Given the description of an element on the screen output the (x, y) to click on. 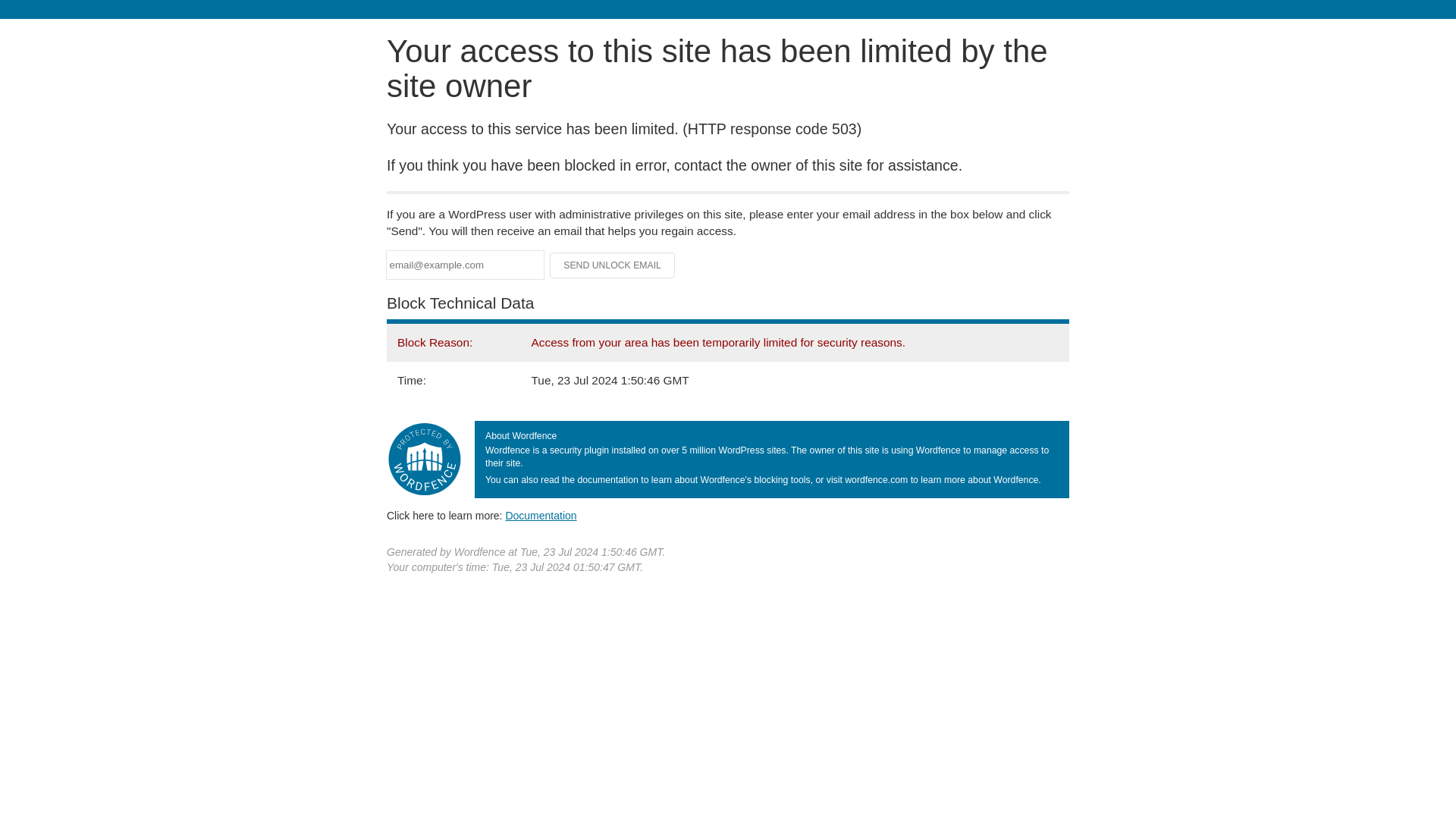
Send Unlock Email (612, 265)
Send Unlock Email (612, 265)
Documentation (540, 515)
